Given the description of an element on the screen output the (x, y) to click on. 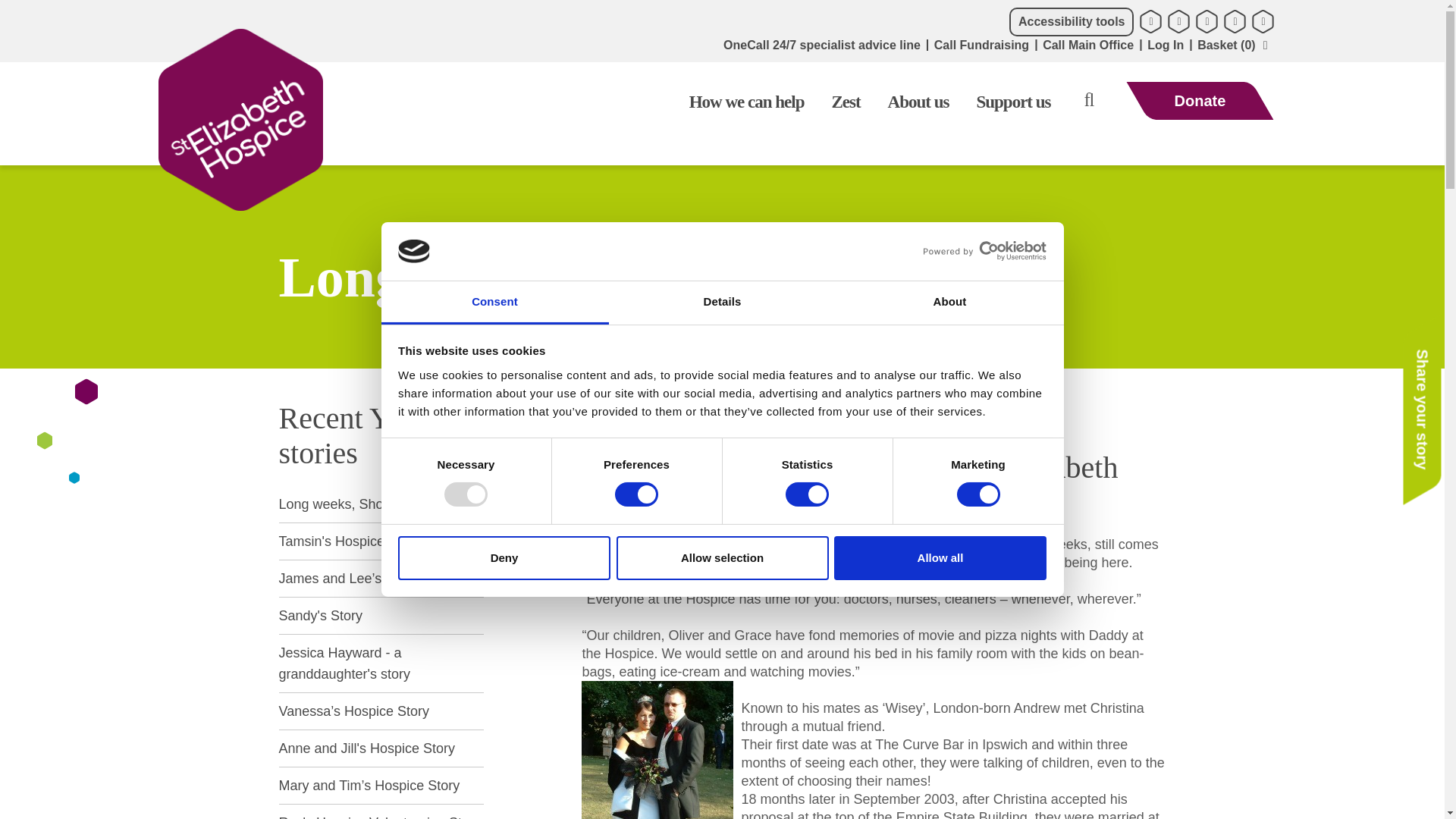
About (948, 302)
Details (721, 302)
Consent (494, 302)
